Given the description of an element on the screen output the (x, y) to click on. 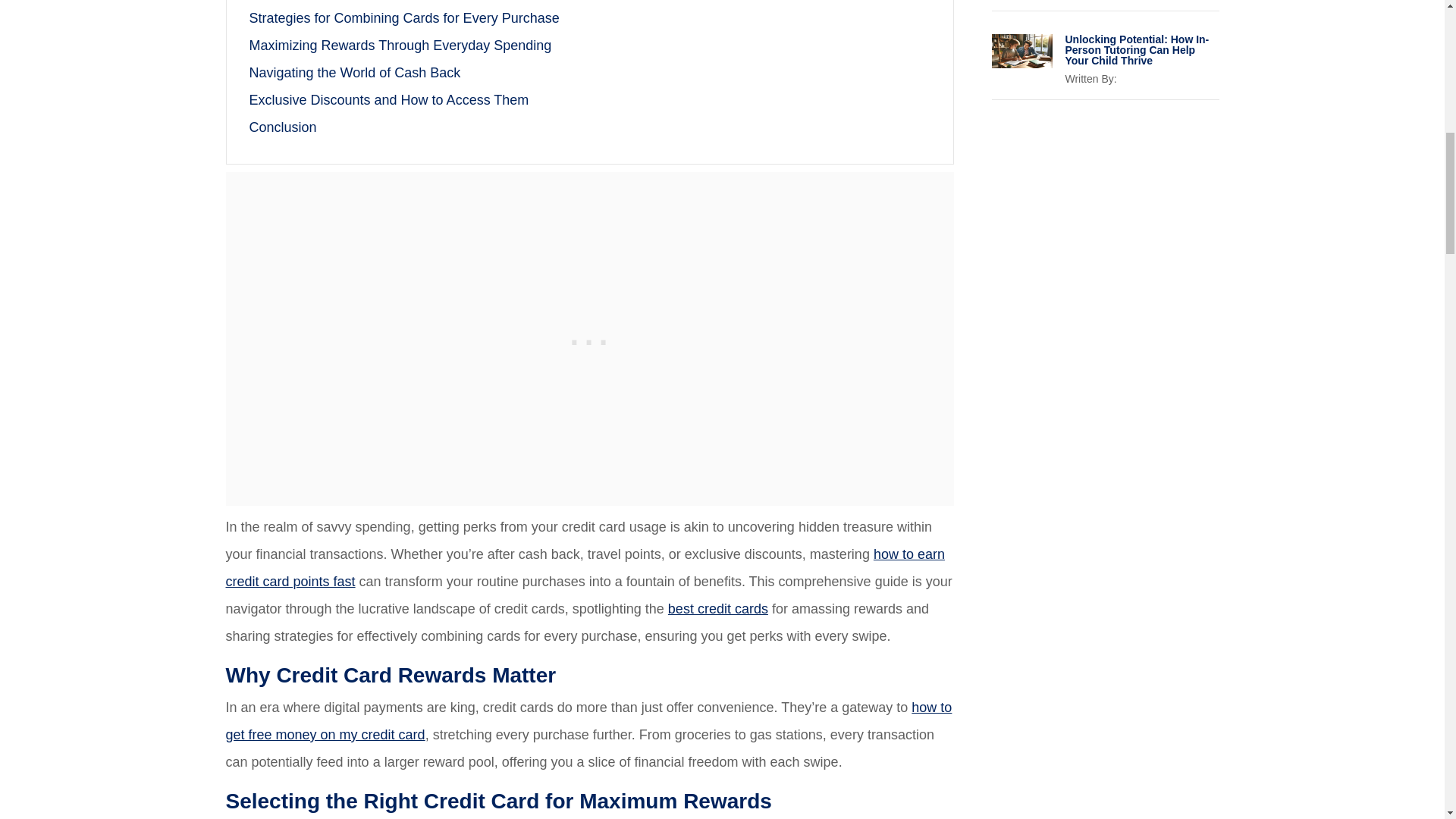
Exclusive Discounts and How to Access Them (388, 99)
how to get free money on my credit card (588, 721)
Maximizing Rewards Through Everyday Spending (399, 45)
Conclusion (281, 127)
Strategies for Combining Cards for Every Purchase (403, 17)
Navigating the World of Cash Back (354, 72)
best credit cards (718, 608)
how to earn credit card points fast (584, 567)
